Given the description of an element on the screen output the (x, y) to click on. 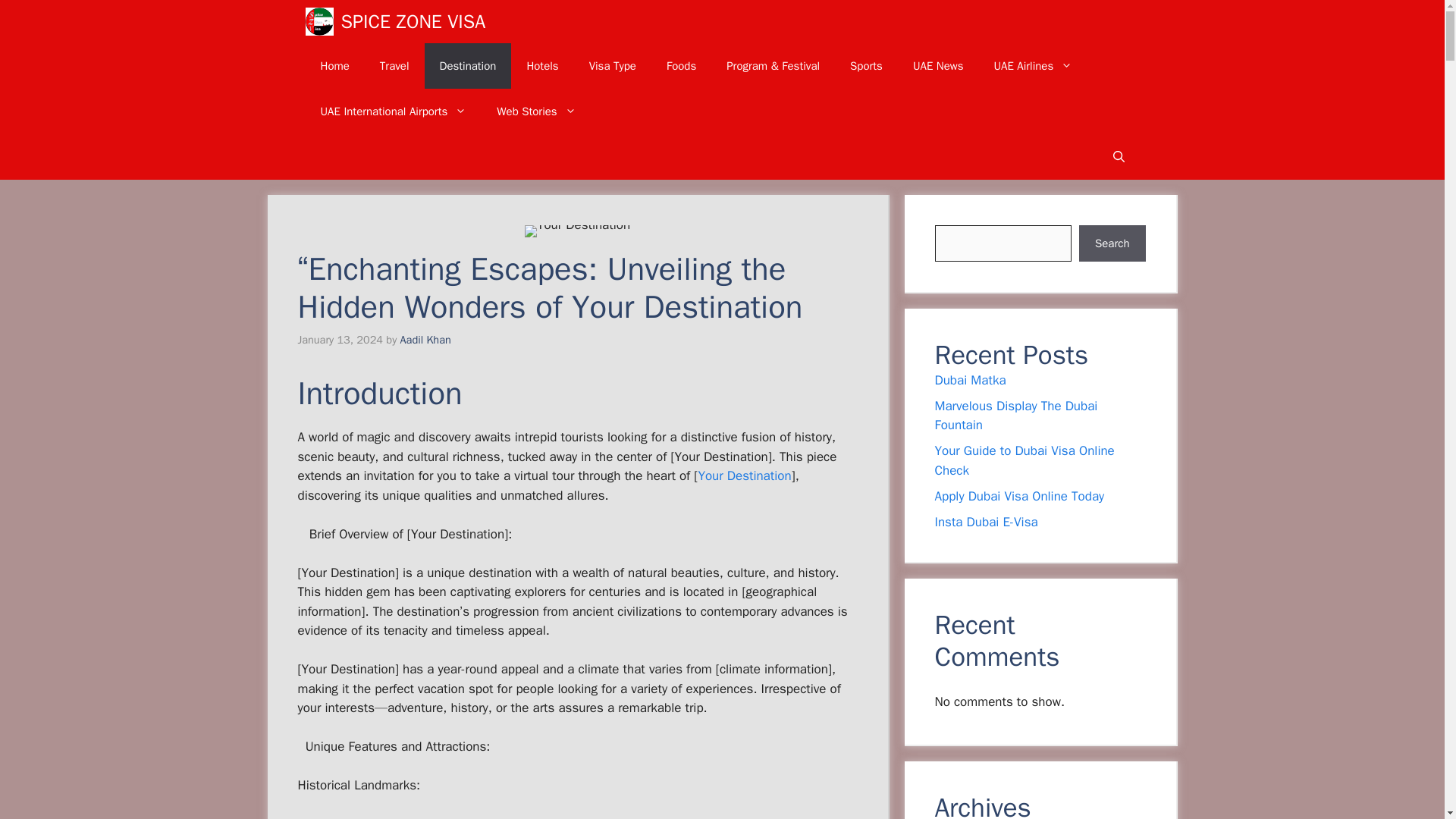
Home (334, 65)
Foods (680, 65)
UAE News (938, 65)
Travel (395, 65)
SPICE ZONE VISA (413, 21)
Sports (866, 65)
View all posts by Aadil Khan (425, 339)
Visa Type (611, 65)
Hotels (542, 65)
Destination (468, 65)
